Given the description of an element on the screen output the (x, y) to click on. 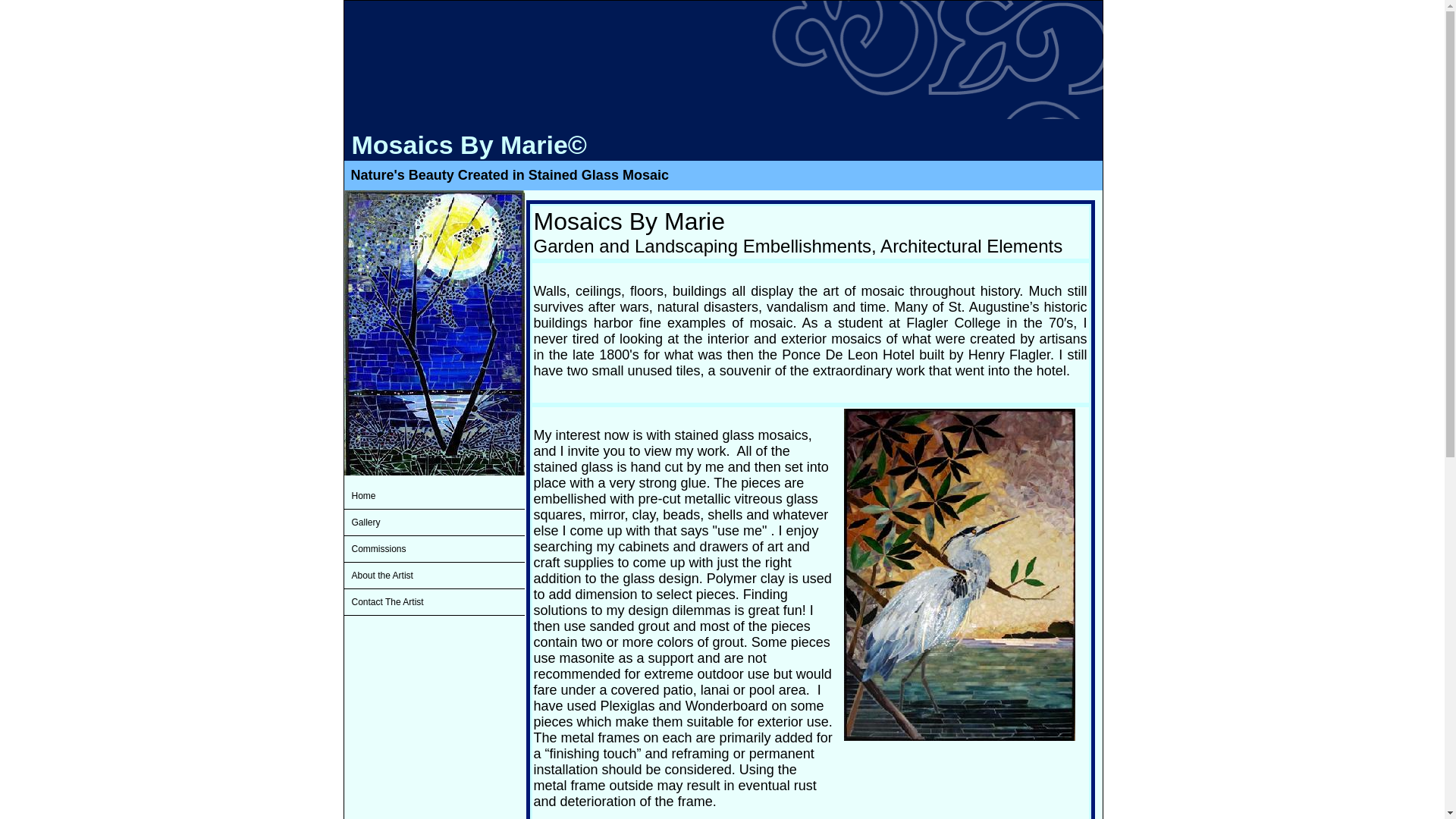
About the Artist (433, 575)
Gallery (433, 522)
Home (433, 496)
Contact The Artist (433, 601)
Commissions (433, 549)
